Given the description of an element on the screen output the (x, y) to click on. 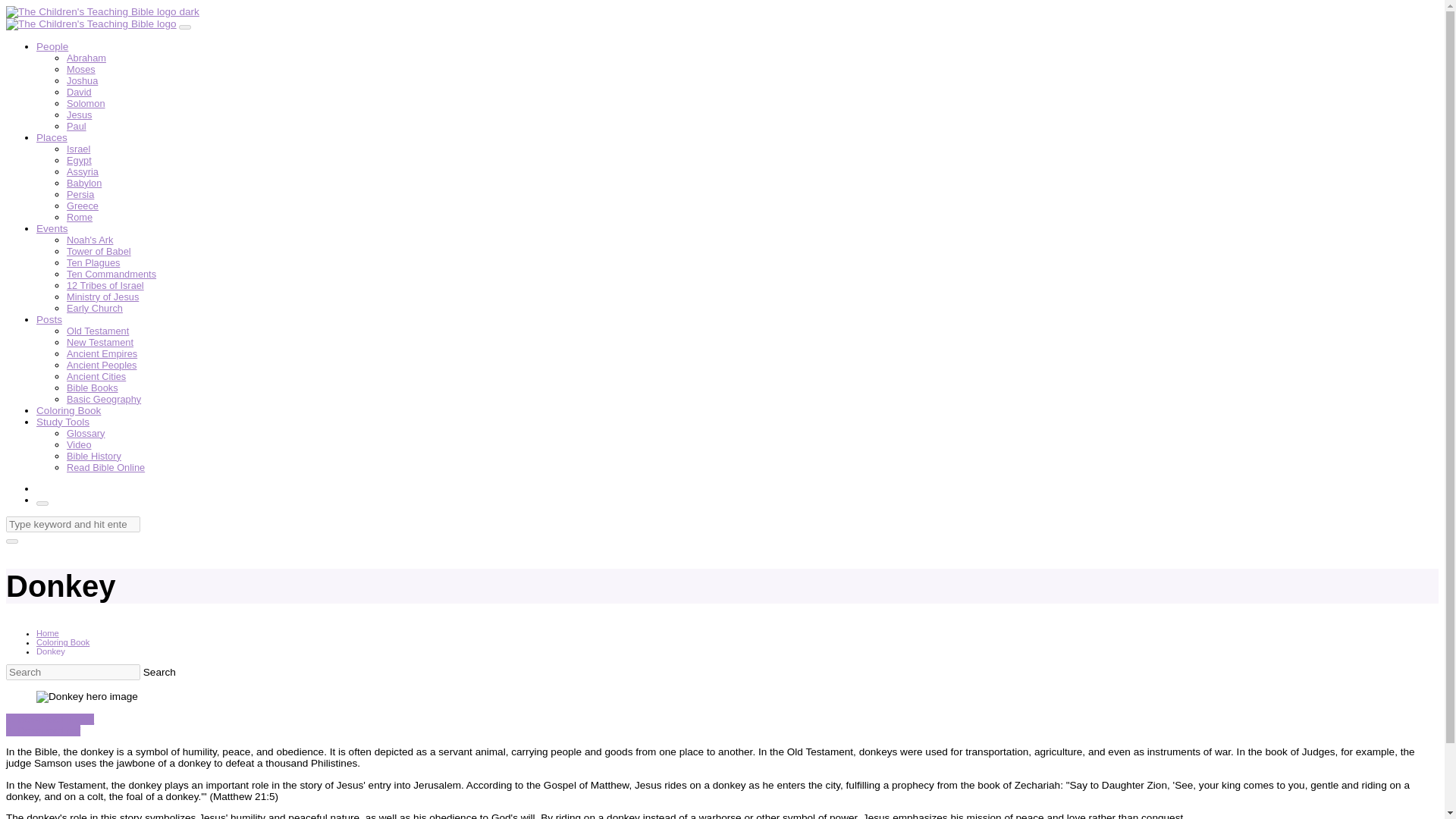
People (52, 46)
Ancient Peoples (101, 365)
Assyria (82, 171)
Basic Geography (103, 398)
Jesus (78, 114)
Moses (81, 69)
New Testament (99, 342)
Bible History (93, 455)
Bible Books (91, 387)
12 Tribes of Israel (105, 285)
Babylon (83, 183)
Places (51, 137)
Greece (82, 205)
Posts (49, 319)
Coloring Book (68, 410)
